Given the description of an element on the screen output the (x, y) to click on. 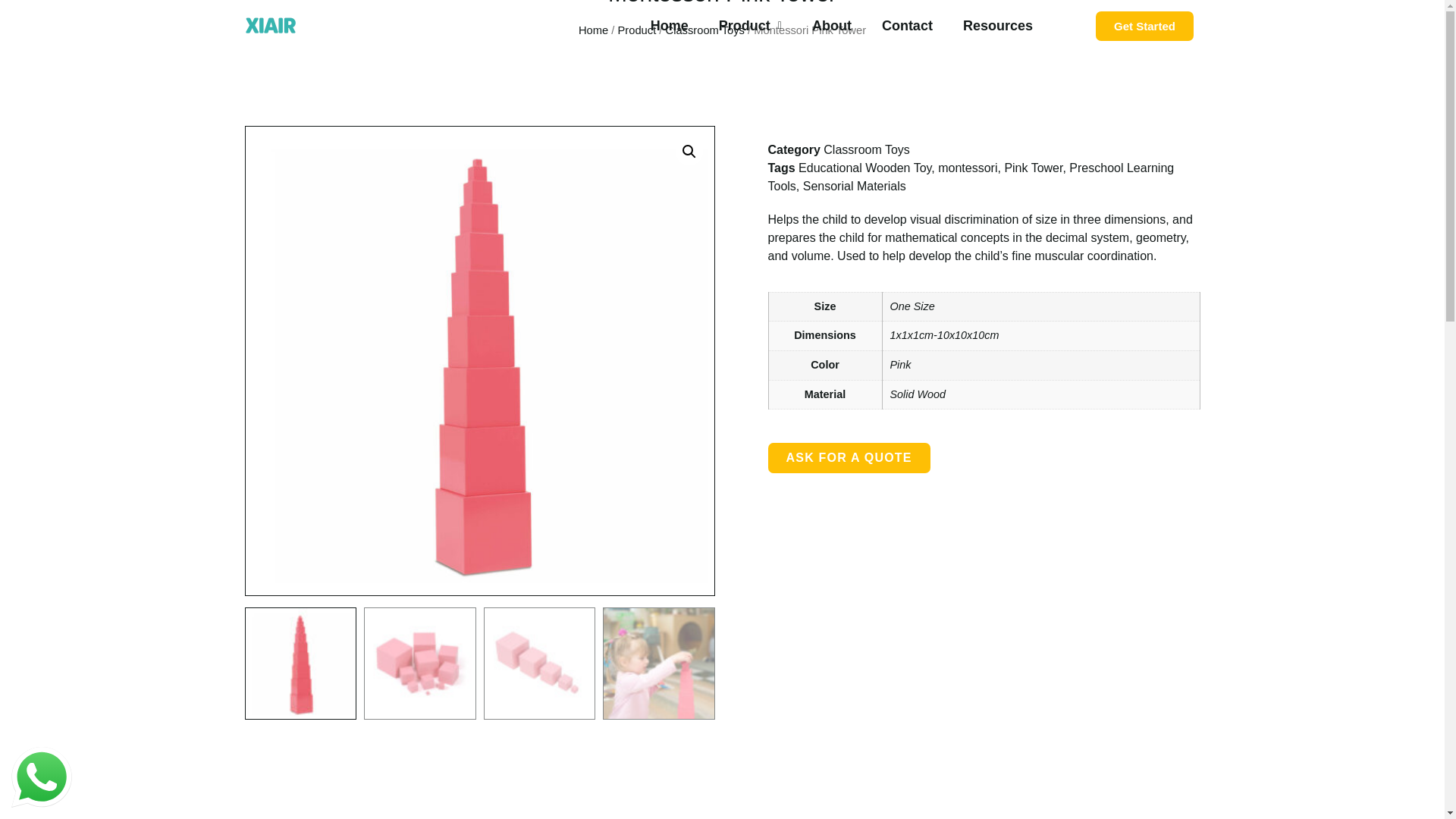
Sensorial Materials (854, 185)
Contact (906, 25)
Resources (997, 25)
Preschool Learning Tools (970, 176)
Chat With Us (41, 776)
About (831, 25)
Classroom Toys (867, 149)
Educational Wooden Toy (864, 167)
ASK FOR A QUOTE (848, 458)
Product (749, 25)
Pink Tower (1033, 167)
Product (636, 30)
Xiair logo-GREEN (269, 25)
Pink (900, 364)
